Given the description of an element on the screen output the (x, y) to click on. 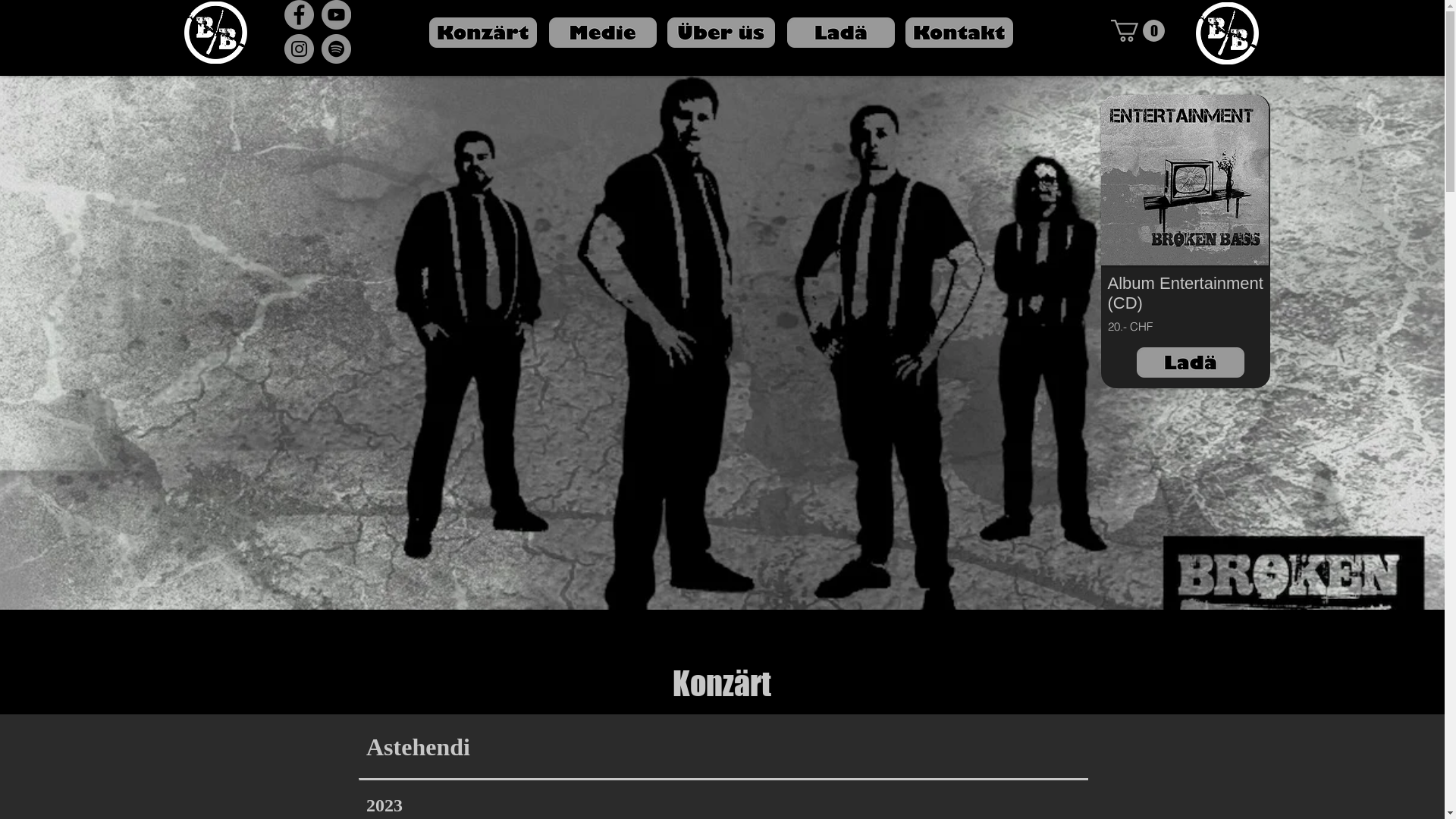
0 Element type: text (1137, 30)
